Given the description of an element on the screen output the (x, y) to click on. 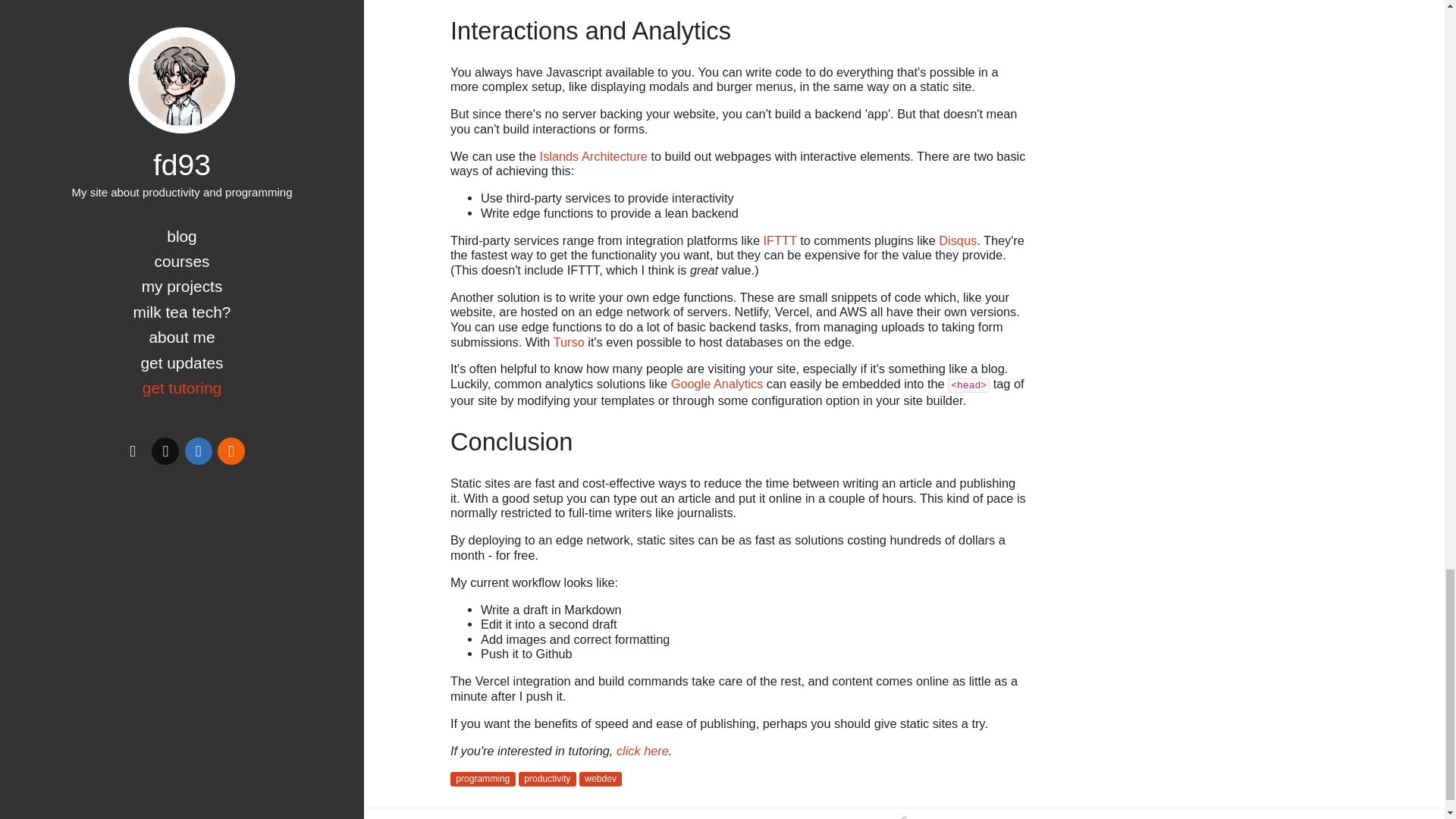
IFTTT (779, 240)
Turso (569, 341)
Google Analytics (716, 383)
click here (641, 750)
programming (482, 779)
Disqus (957, 240)
Islands Architecture (593, 155)
